Given the description of an element on the screen output the (x, y) to click on. 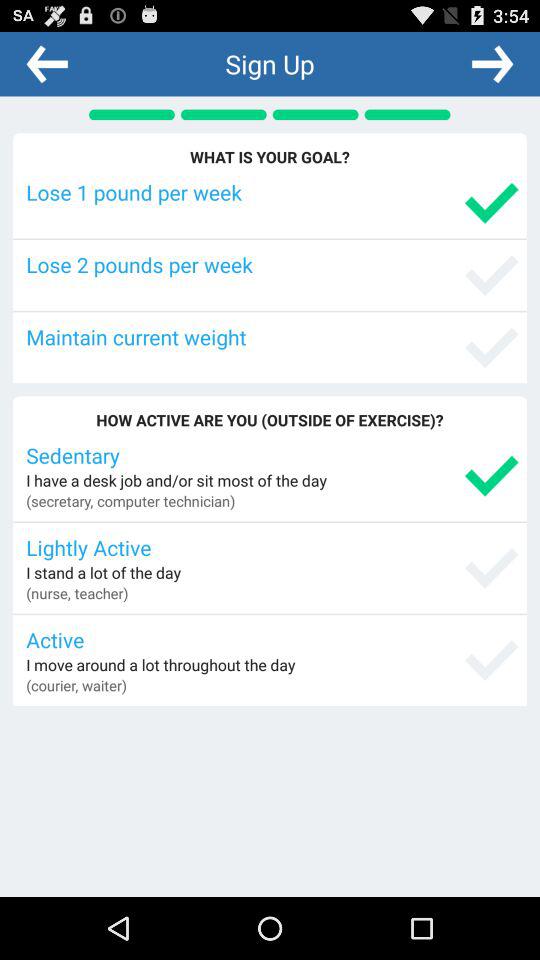
press the item above the what is your app (47, 63)
